Given the description of an element on the screen output the (x, y) to click on. 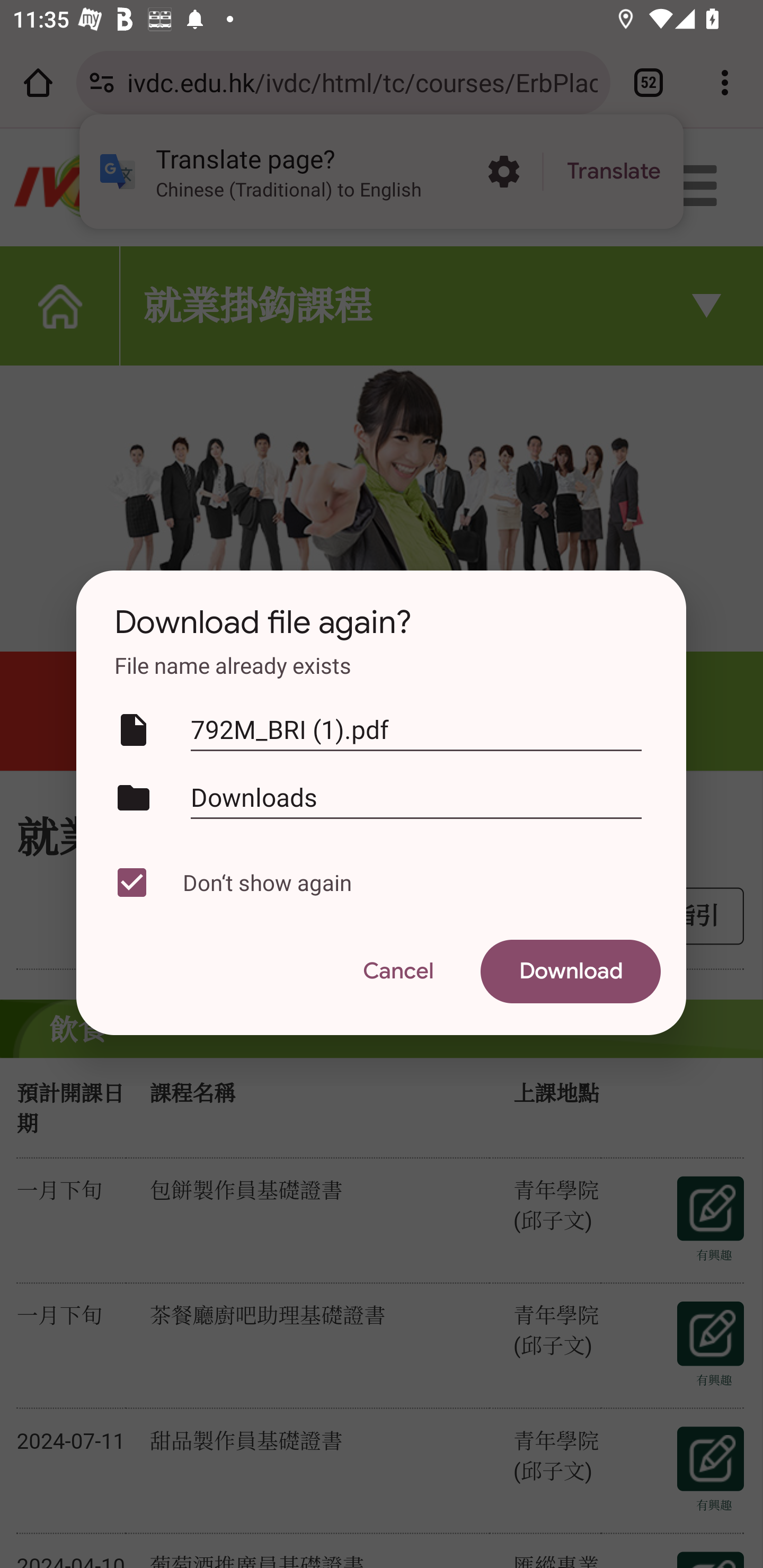
792M_BRI (1).pdf (415, 729)
Downloads (415, 797)
Don‘t show again (376, 882)
Cancel (397, 970)
Download (570, 970)
